Given the description of an element on the screen output the (x, y) to click on. 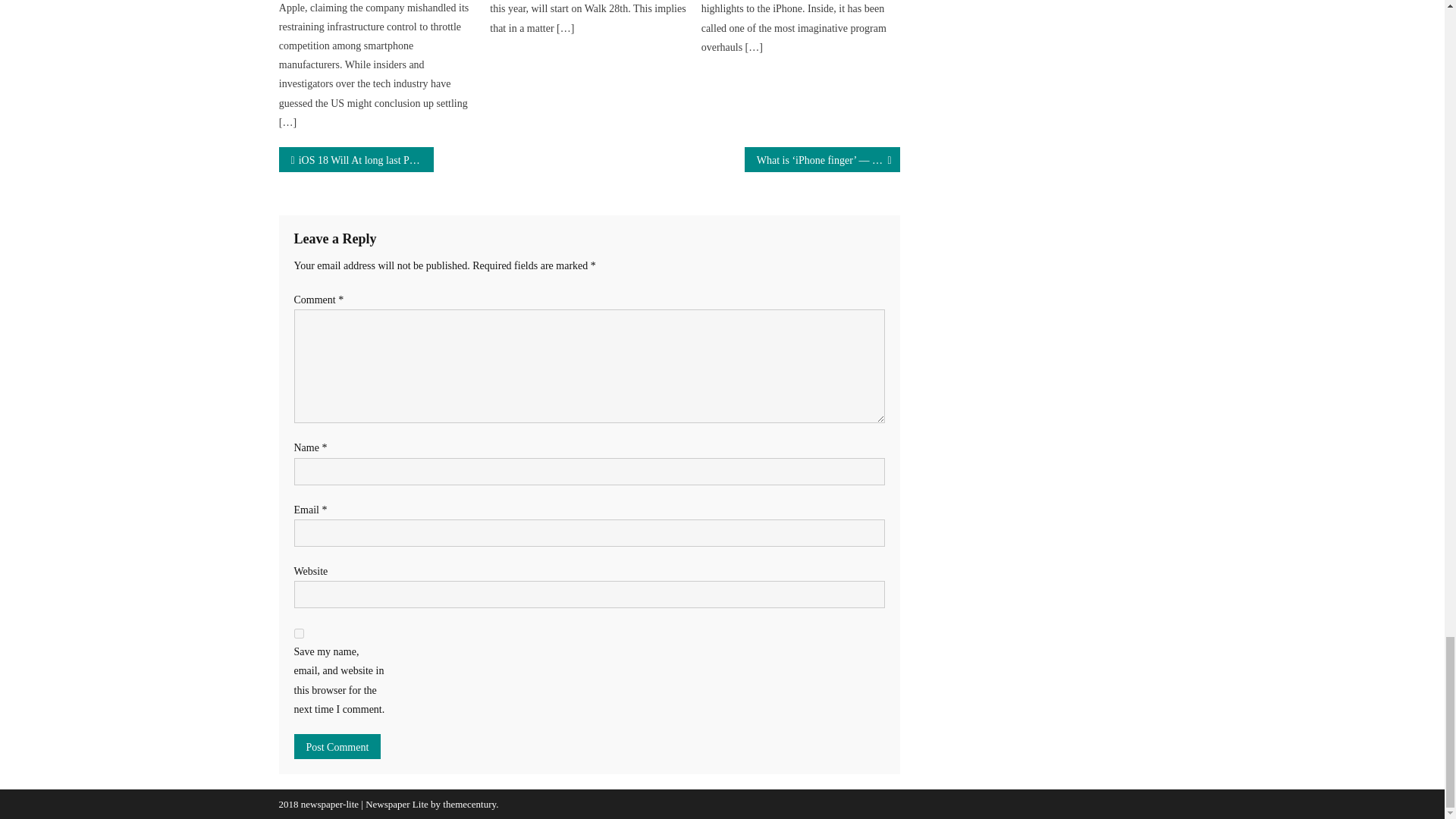
Post Comment (337, 746)
Post Comment (337, 746)
yes (299, 633)
